Given the description of an element on the screen output the (x, y) to click on. 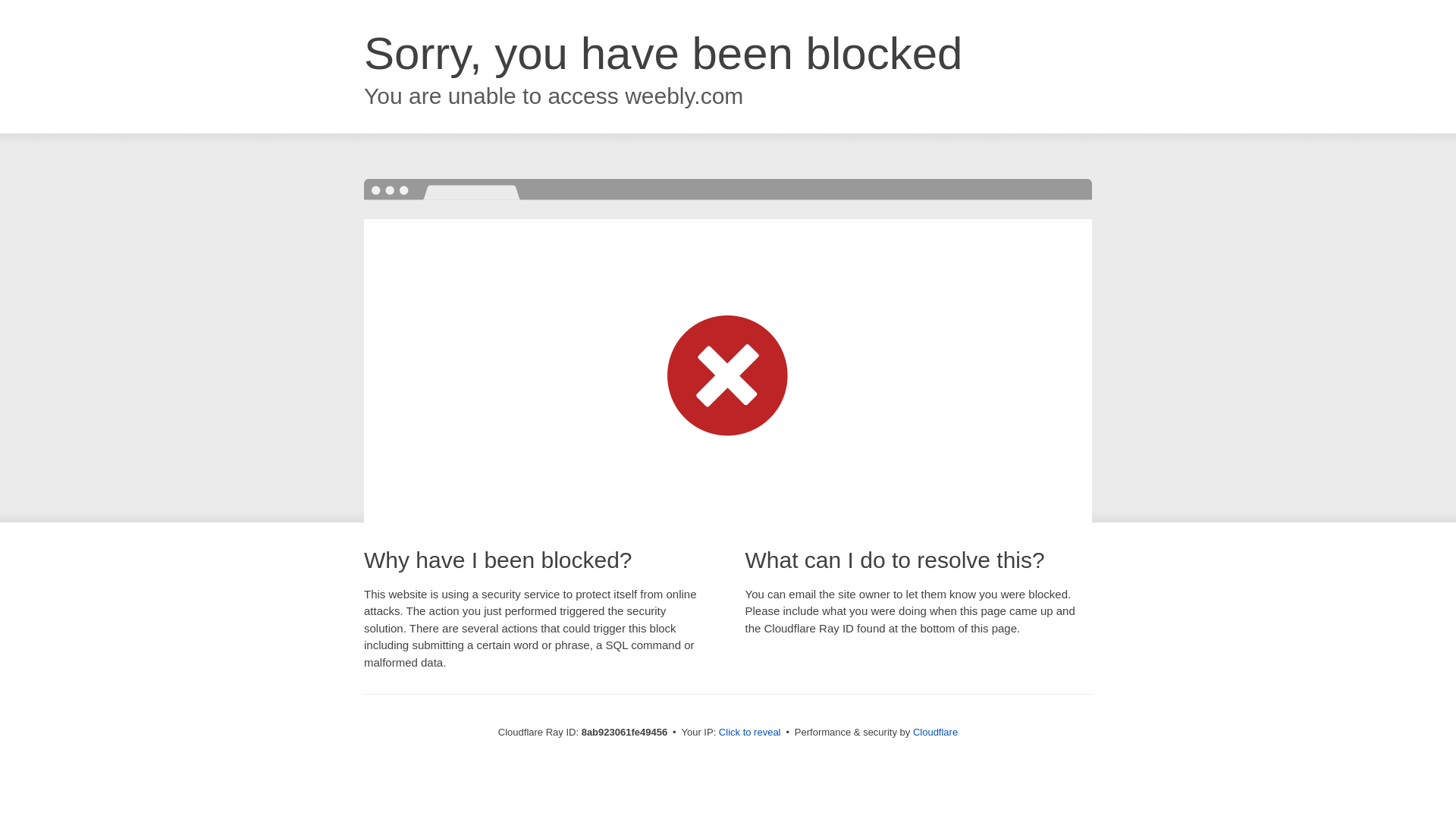
Cloudflare (935, 731)
Click to reveal (749, 732)
